Given the description of an element on the screen output the (x, y) to click on. 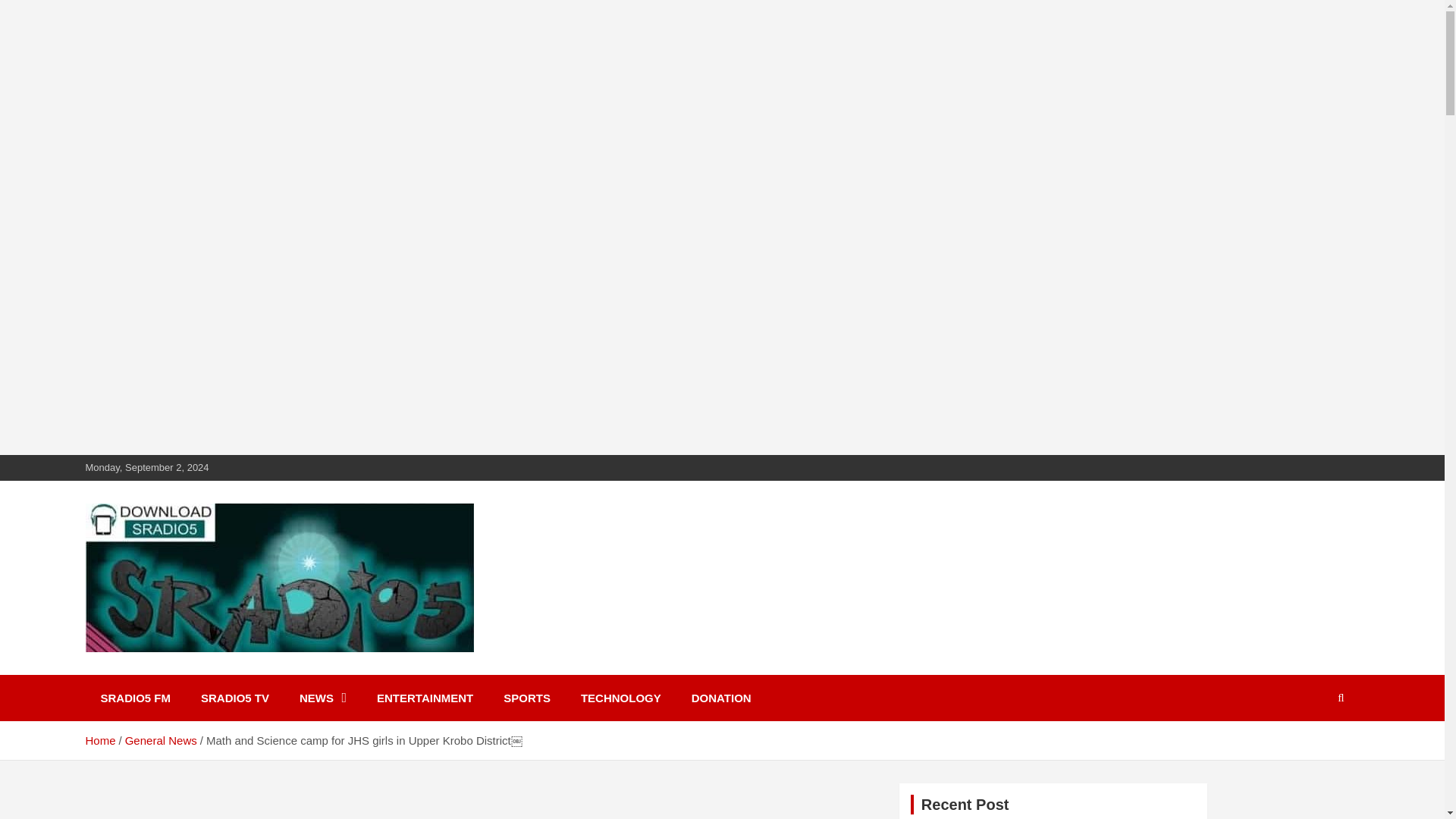
Advertisement (555, 804)
ENTERTAINMENT (424, 697)
NEWS (322, 697)
General News (160, 739)
Home (99, 739)
SRADIO5 TV (234, 697)
DONATION (722, 697)
TECHNOLOGY (621, 697)
SPORTS (526, 697)
